Given the description of an element on the screen output the (x, y) to click on. 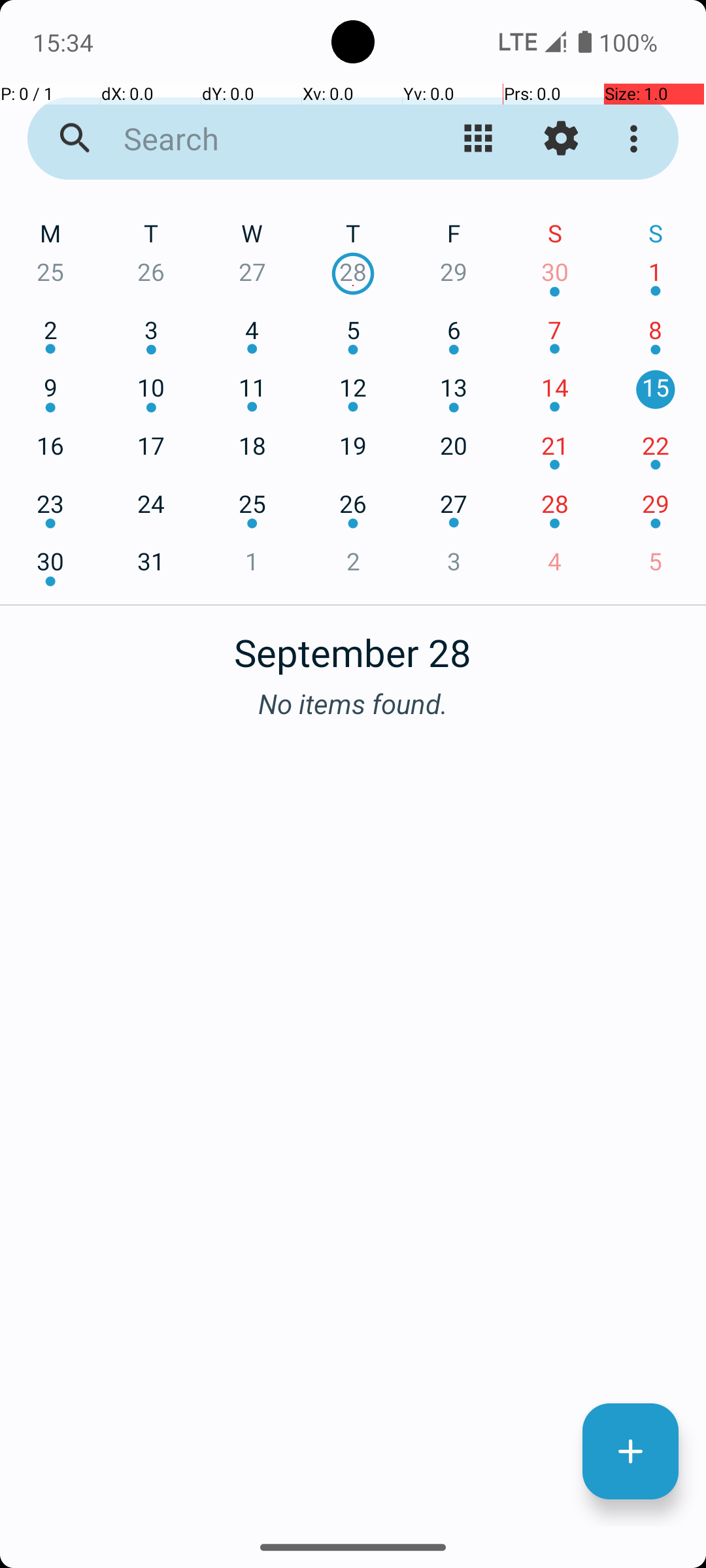
September 28 Element type: android.widget.TextView (352, 644)
